Given the description of an element on the screen output the (x, y) to click on. 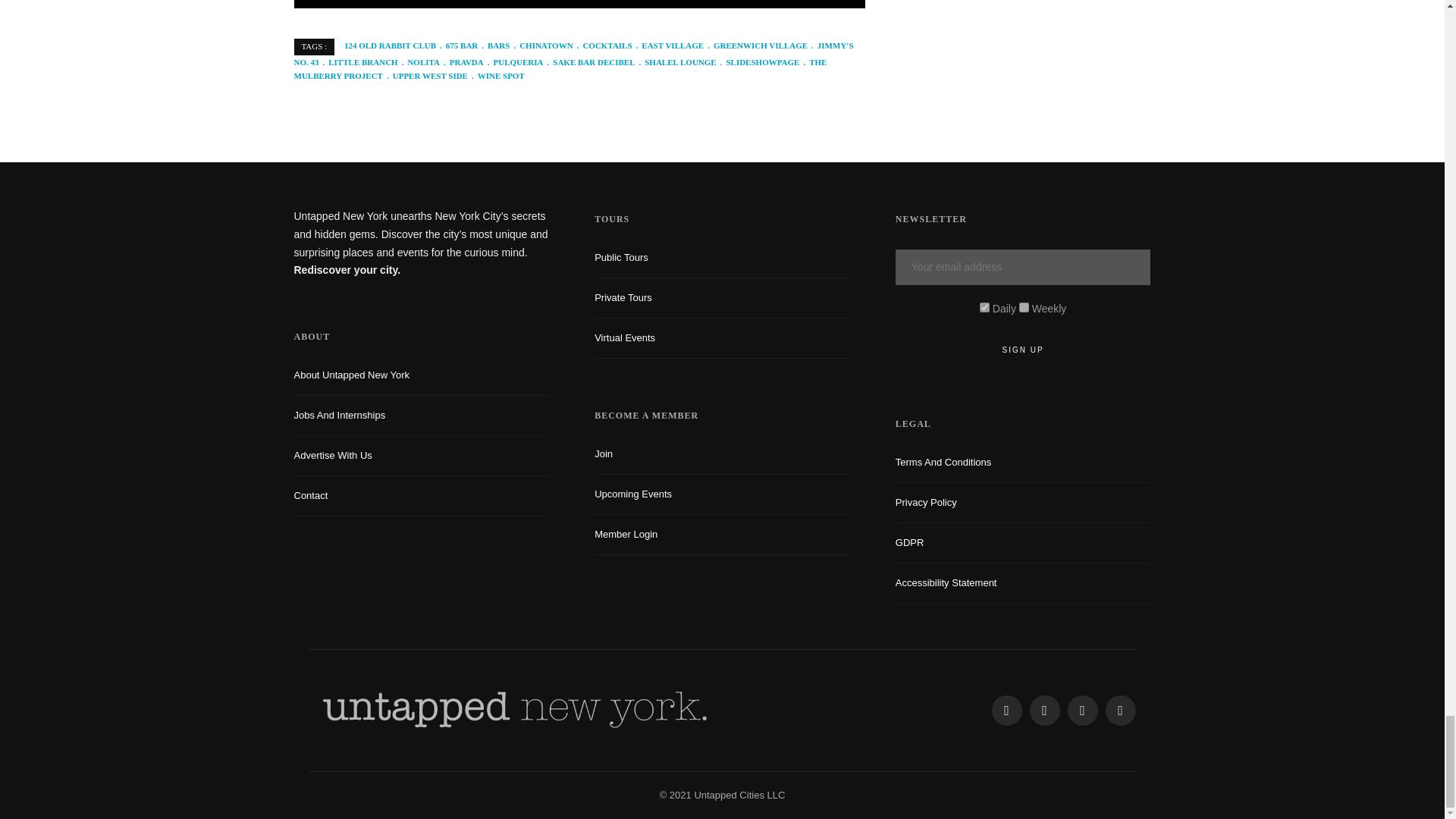
7cff6a70fd (1024, 307)
e99a09560c (984, 307)
Sign up (1023, 349)
